Given the description of an element on the screen output the (x, y) to click on. 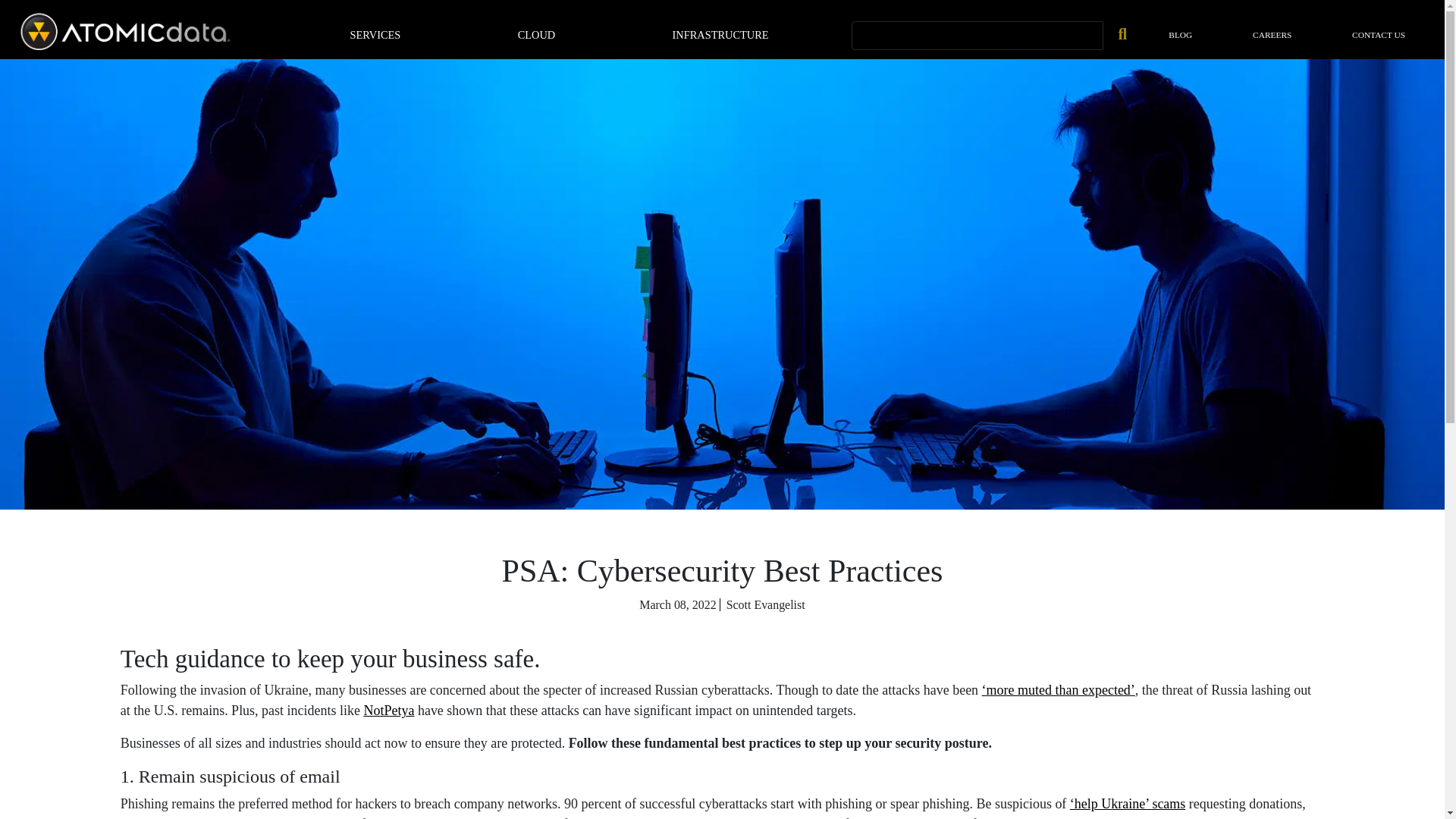
INFRASTRUCTURE (719, 35)
CONTACT US (1378, 34)
NotPetya (387, 710)
BLOG (1180, 34)
CLOUD (537, 35)
SERVICES (374, 35)
CAREERS (1272, 34)
